Given the description of an element on the screen output the (x, y) to click on. 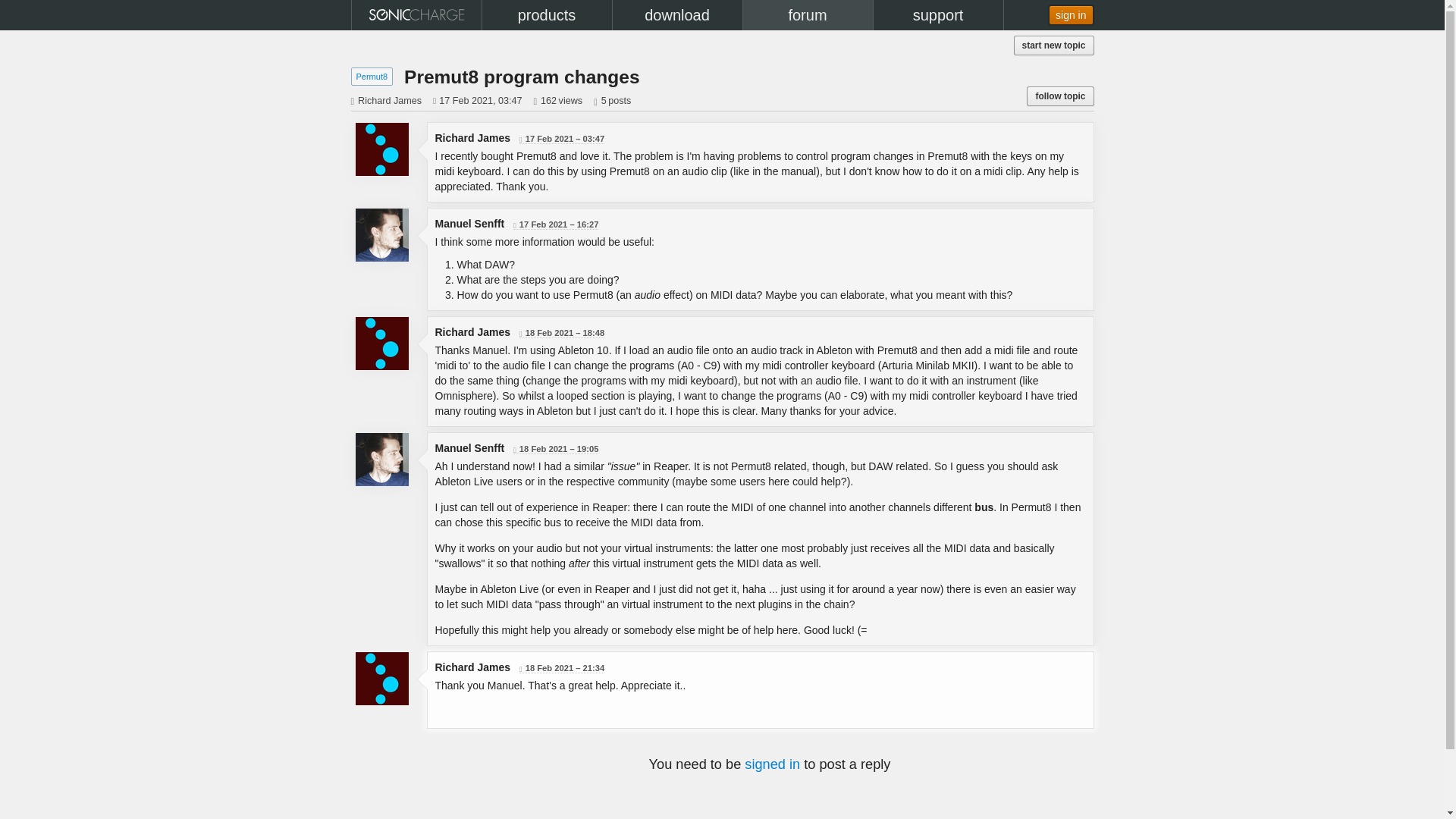
support (938, 15)
products (546, 15)
signed in (771, 764)
download (677, 15)
start new topic (1053, 45)
Permut8 (372, 76)
sign in (1070, 14)
follow topic (1059, 96)
forum (807, 15)
